Given the description of an element on the screen output the (x, y) to click on. 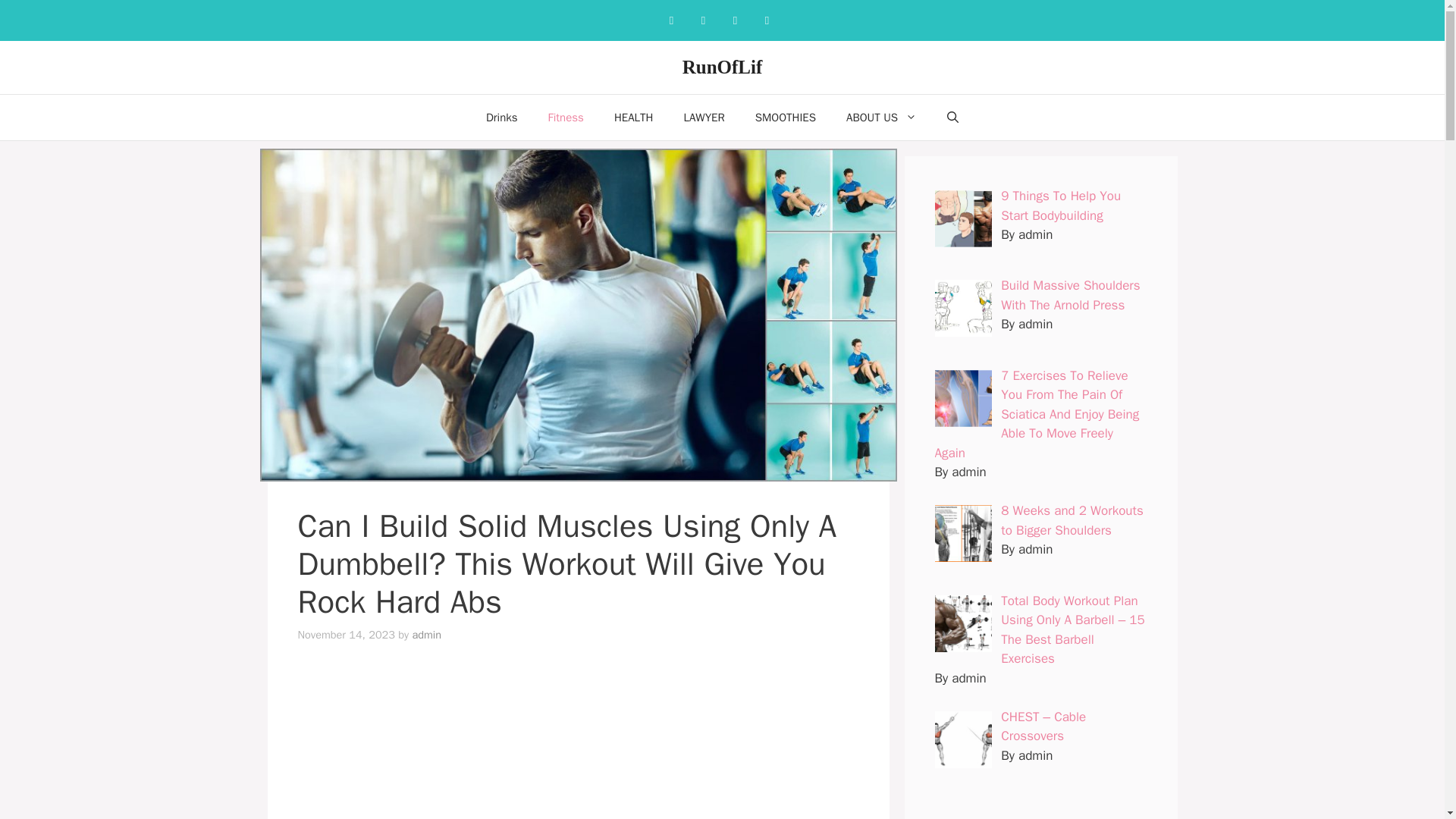
HEALTH (633, 117)
Build Massive Shoulders With The Arnold Press (1070, 294)
Instagram (703, 20)
Twitter (766, 20)
Fitness (565, 117)
Facebook (671, 20)
8 Weeks and 2 Workouts to Bigger Shoulders (1071, 520)
View all posts by admin (426, 634)
LAWYER (703, 117)
